Given the description of an element on the screen output the (x, y) to click on. 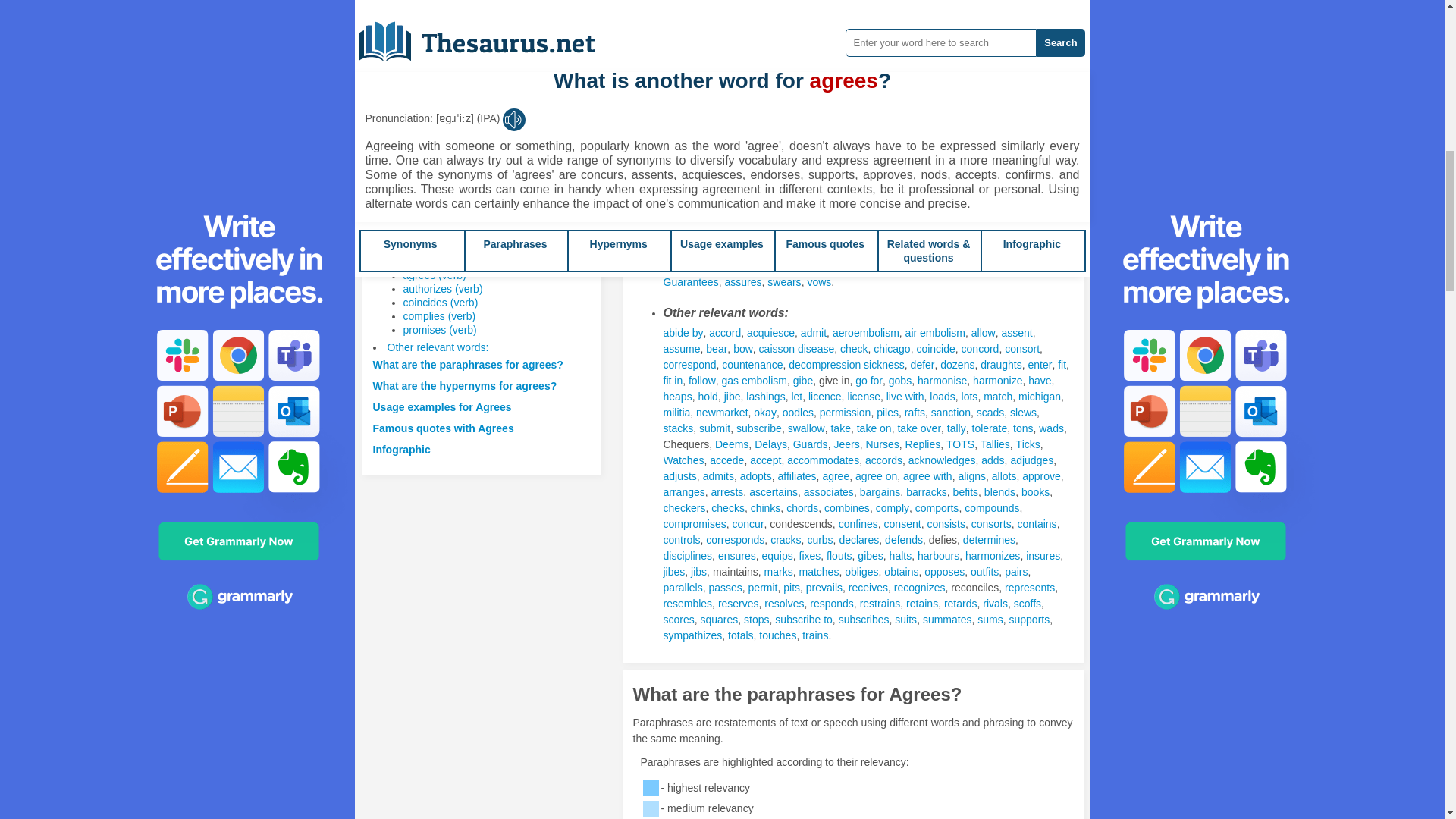
Other relevant words: (437, 346)
acquiesces (777, 14)
empathizes (938, 30)
Synonyms for Agrees (836, 46)
Synonyms for Agrees (725, 14)
Synonyms for Agrees (994, 30)
conforms (727, 30)
Infographic (401, 449)
Synonyms for Agrees (777, 14)
cooperates (879, 30)
